Given the description of an element on the screen output the (x, y) to click on. 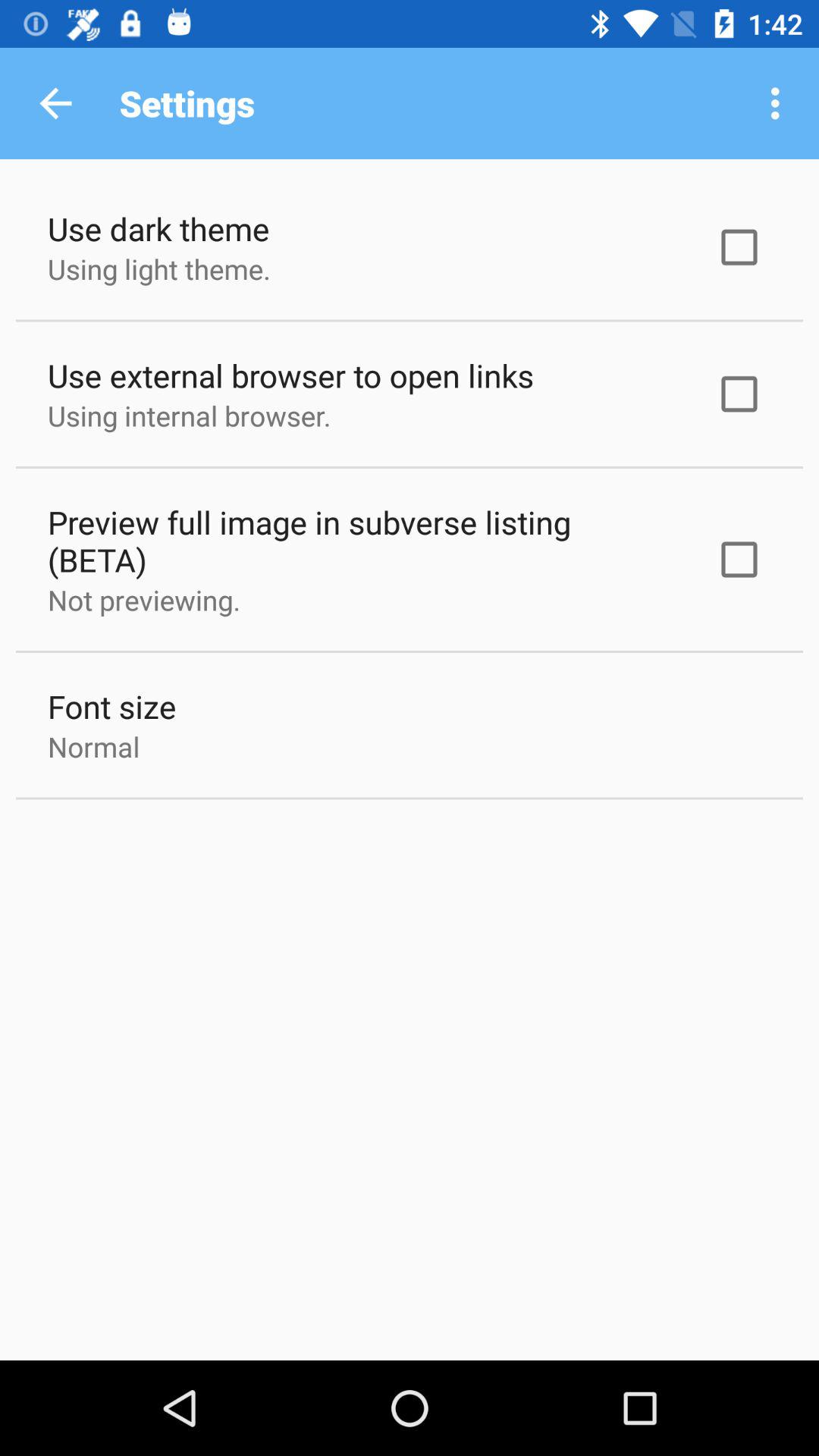
open icon below using light theme. item (290, 374)
